Given the description of an element on the screen output the (x, y) to click on. 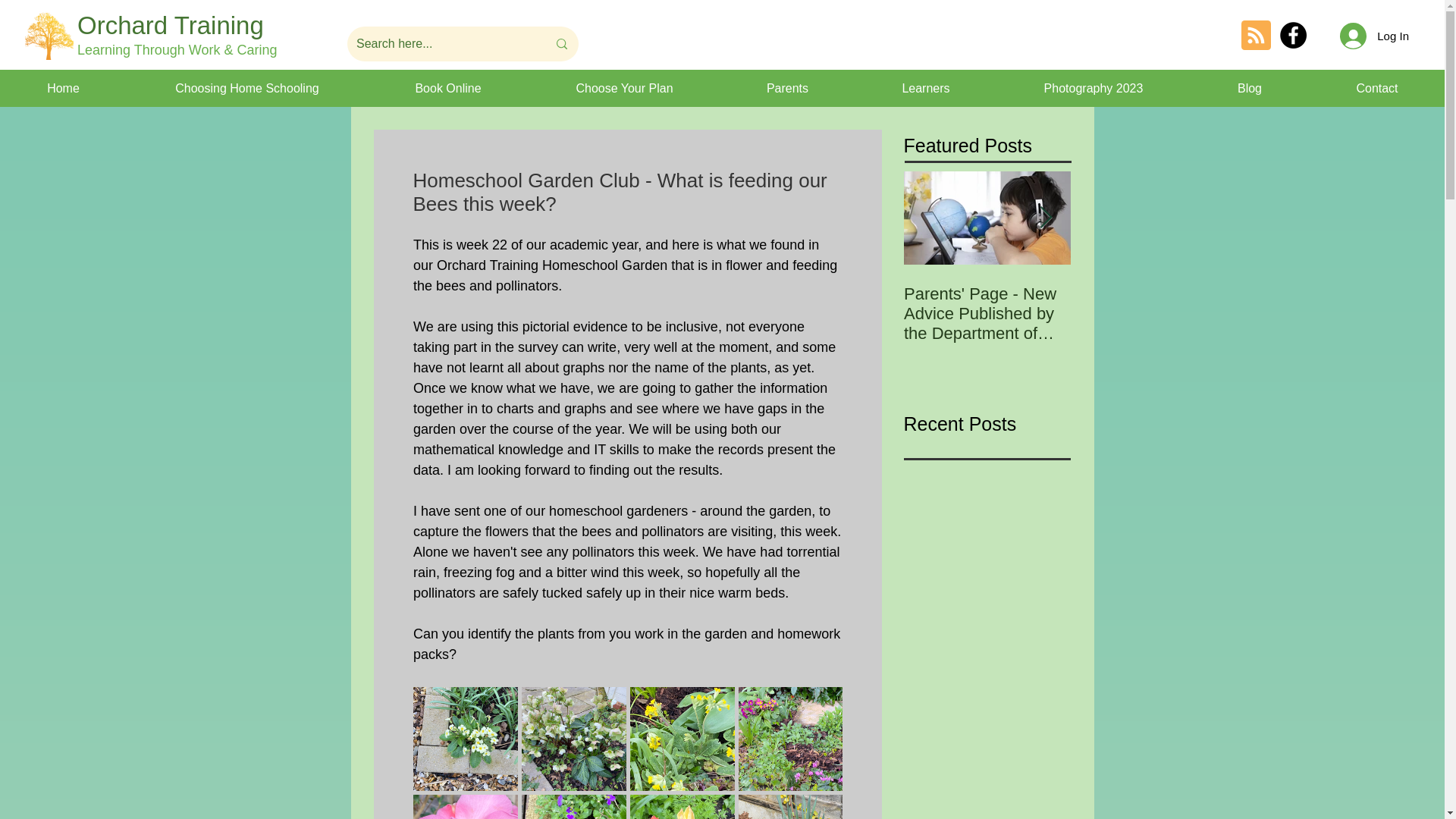
Orchard Training (170, 25)
Choosing Home Schooling (246, 88)
Choose Your Plan (623, 88)
Log In (1374, 36)
Learners (924, 88)
Parents (786, 88)
Book Online (447, 88)
Home (63, 88)
